Given the description of an element on the screen output the (x, y) to click on. 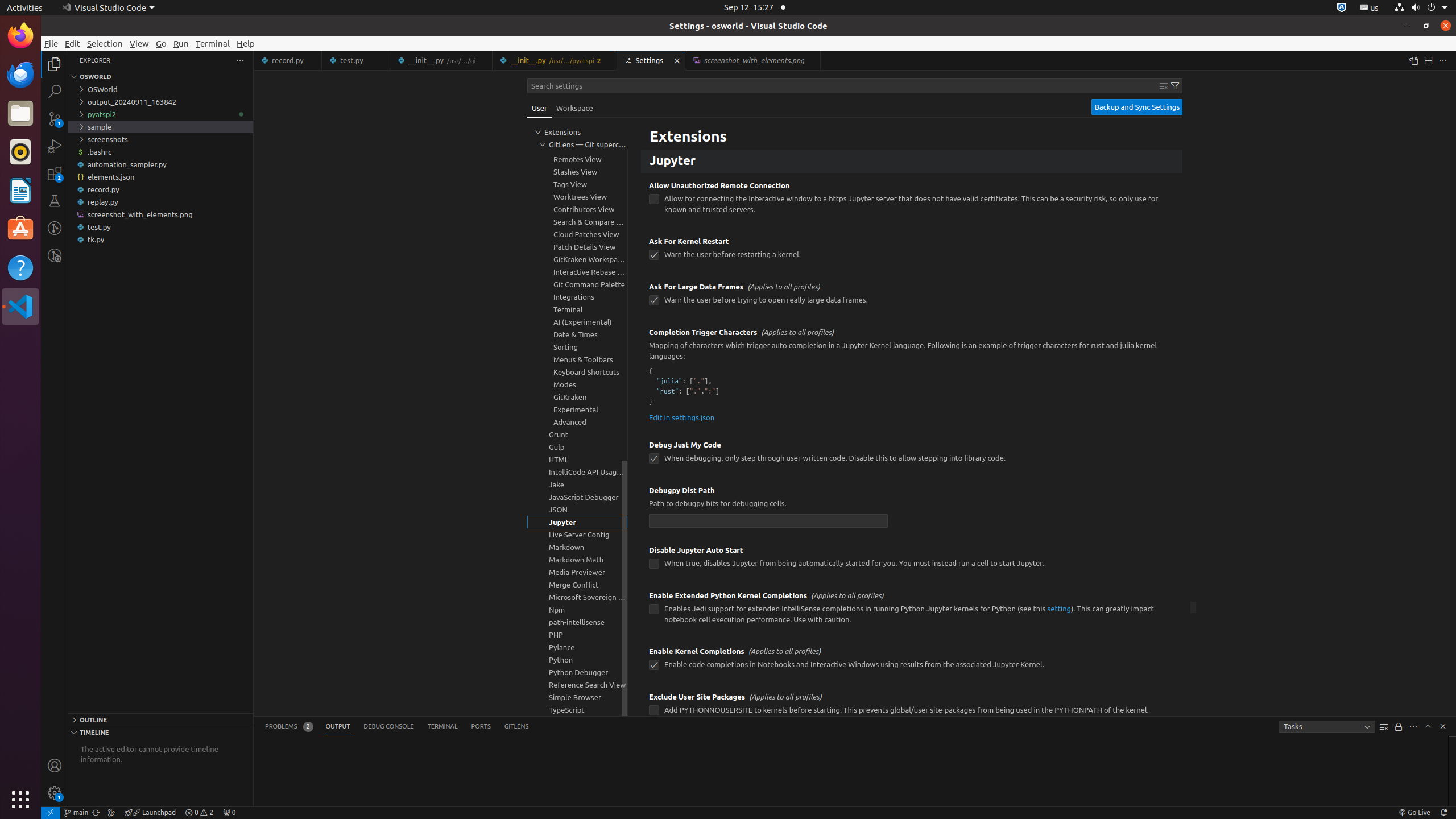
jupyter.excludeUserSitePackages Element type: check-box (653, 710)
Patch Details View, group Element type: tree-item (577, 246)
Pylance, group Element type: tree-item (577, 646)
Backup and Sync Settings Element type: push-button (1136, 106)
Date & Times, group Element type: tree-item (577, 334)
